Given the description of an element on the screen output the (x, y) to click on. 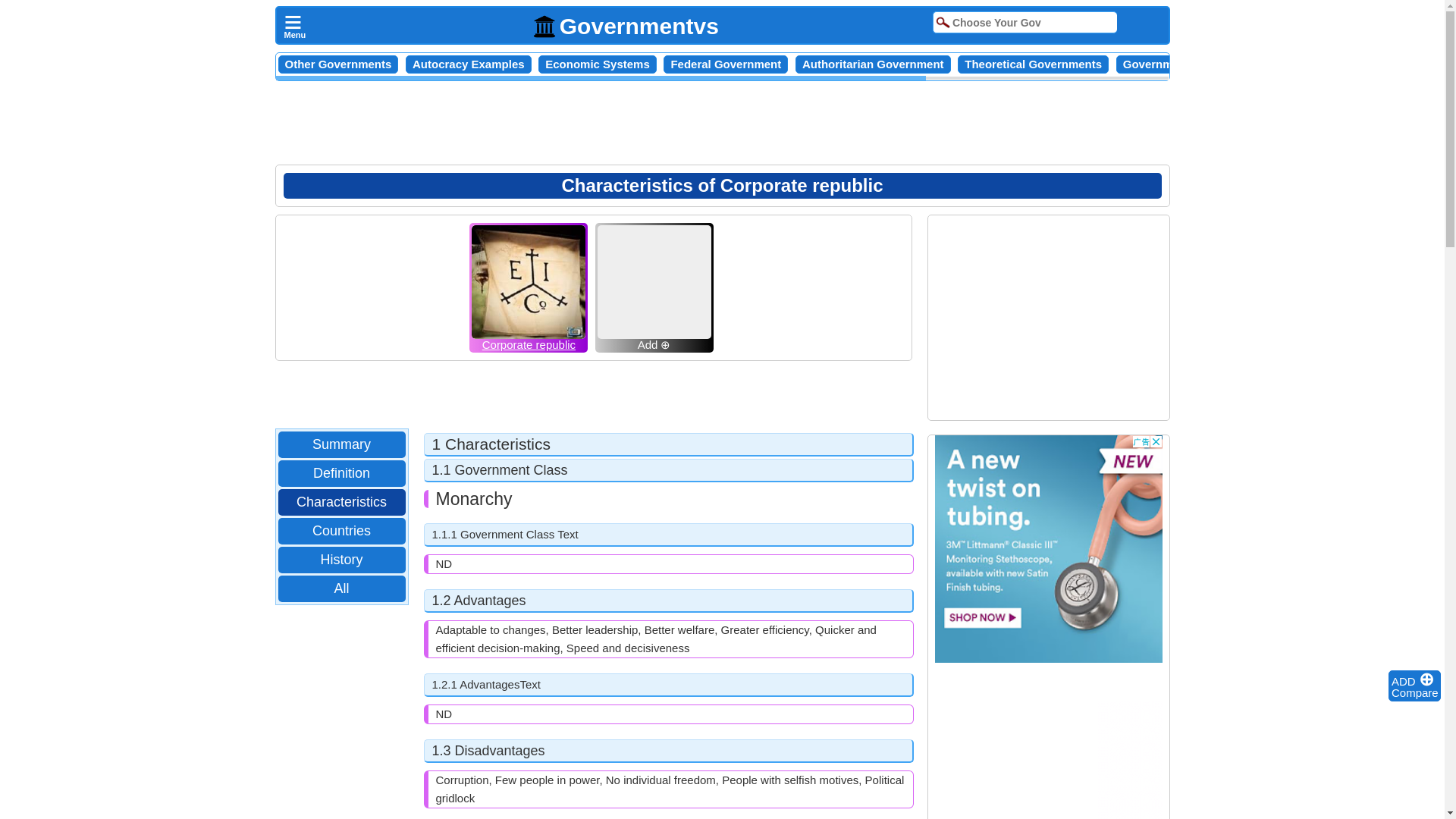
Characteristics (341, 502)
Corporate republic (528, 342)
Authoritarian Government (872, 63)
Summary (341, 444)
Countries (341, 530)
Other Governments (338, 63)
All (341, 588)
Governmentvs (625, 26)
Economic Systems (596, 63)
Government following constitution (1216, 63)
